Given the description of an element on the screen output the (x, y) to click on. 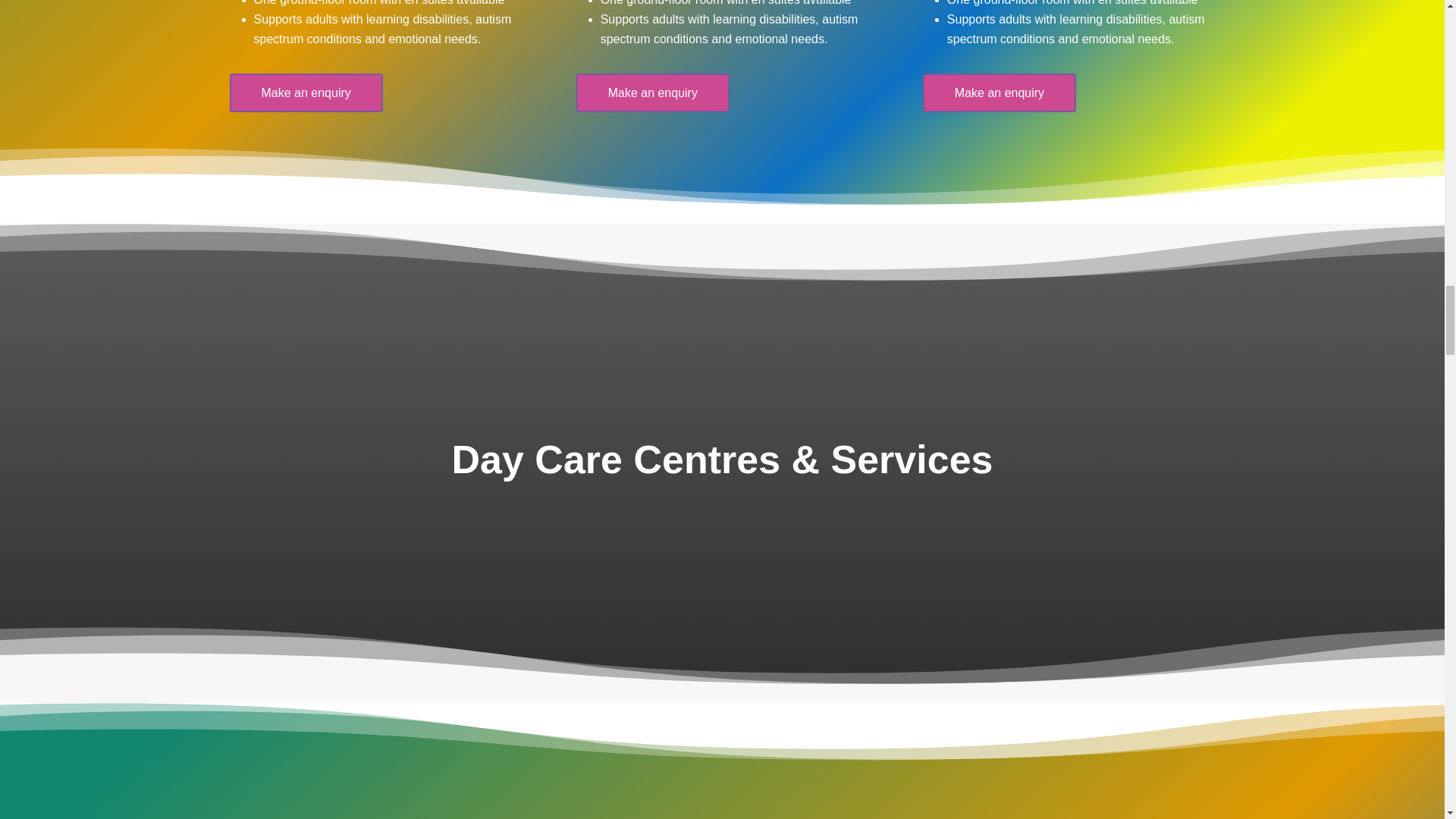
Make an enquiry (652, 92)
Make an enquiry (304, 92)
Make an enquiry (999, 92)
